Given the description of an element on the screen output the (x, y) to click on. 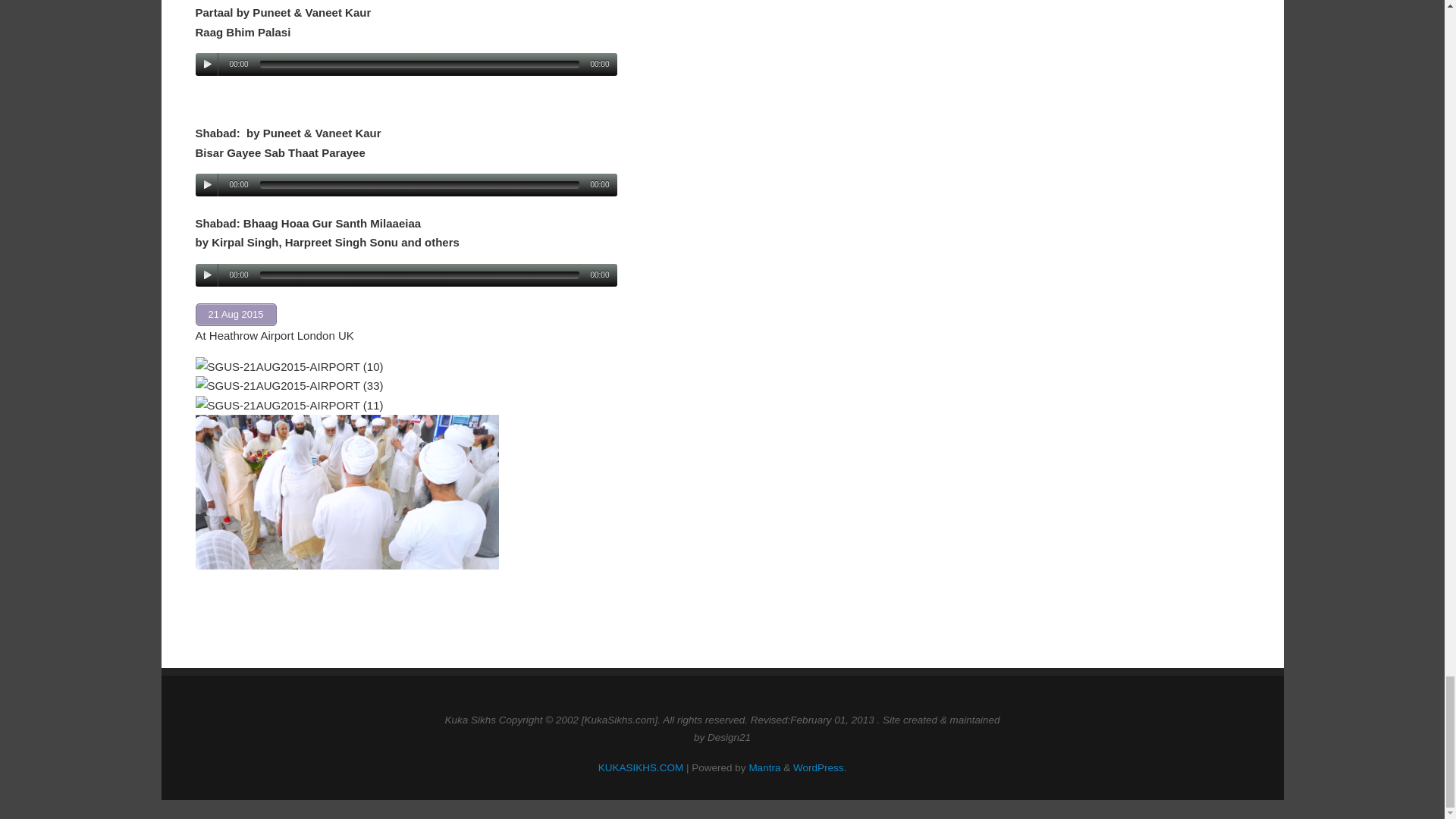
Semantic Personal Publishing Platform (819, 767)
KUKASIKHS.COM (641, 767)
Mantra Theme by Cryout Creations (764, 767)
